Given the description of an element on the screen output the (x, y) to click on. 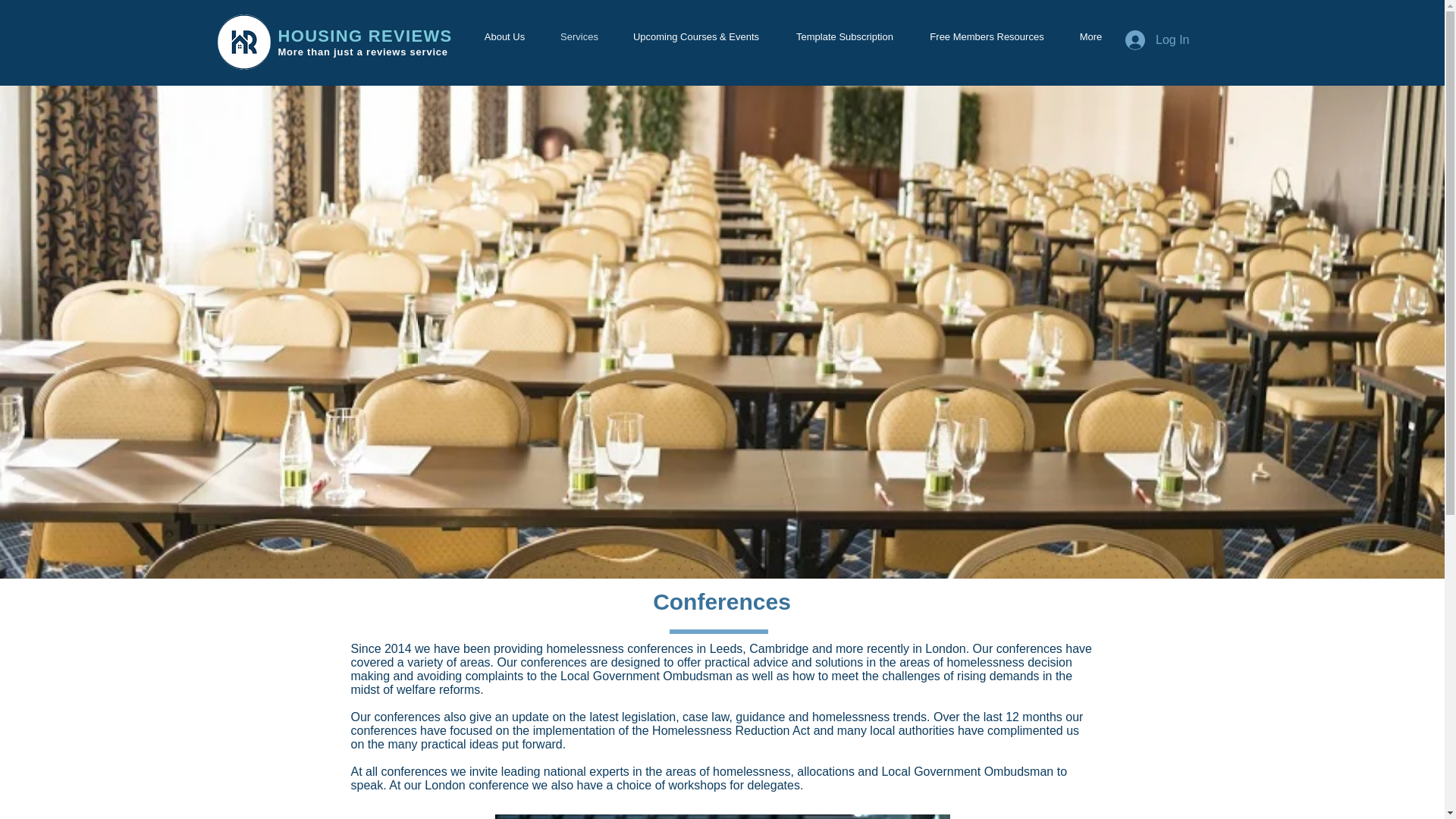
Services (578, 36)
About Us (504, 36)
HOUSING REVIEWS (364, 35)
Template Subscription (844, 36)
Free Members Resources (986, 36)
Log In (1157, 39)
